Given the description of an element on the screen output the (x, y) to click on. 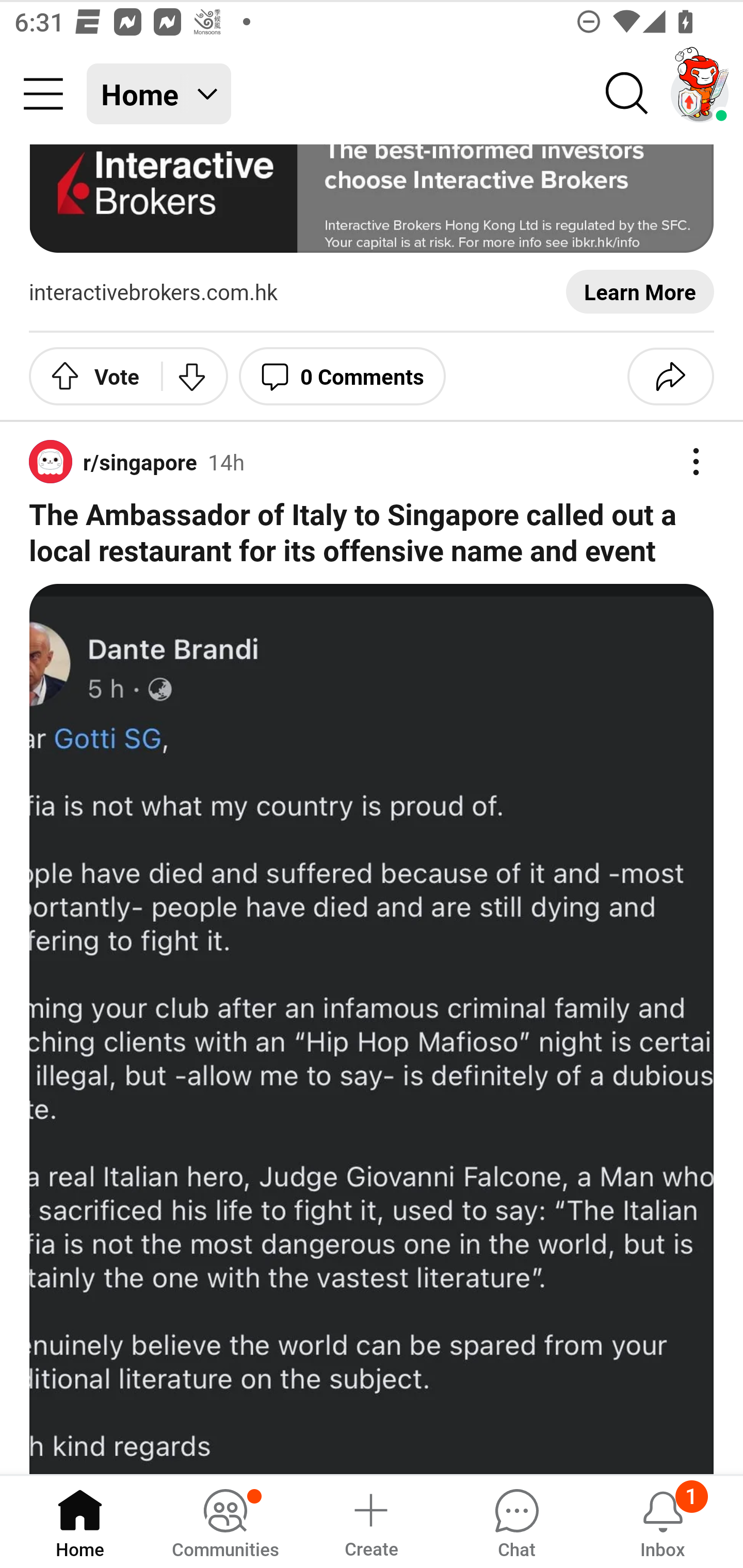
Community menu (43, 93)
Home Home feed (158, 93)
Search (626, 93)
TestAppium002 account (699, 93)
1 of 2, Image, In Image gallery (371, 1028)
Home (80, 1520)
Communities, has notifications Communities (225, 1520)
Create a post Create (370, 1520)
Chat (516, 1520)
Inbox, has 1 notification 1 Inbox (662, 1520)
